Given the description of an element on the screen output the (x, y) to click on. 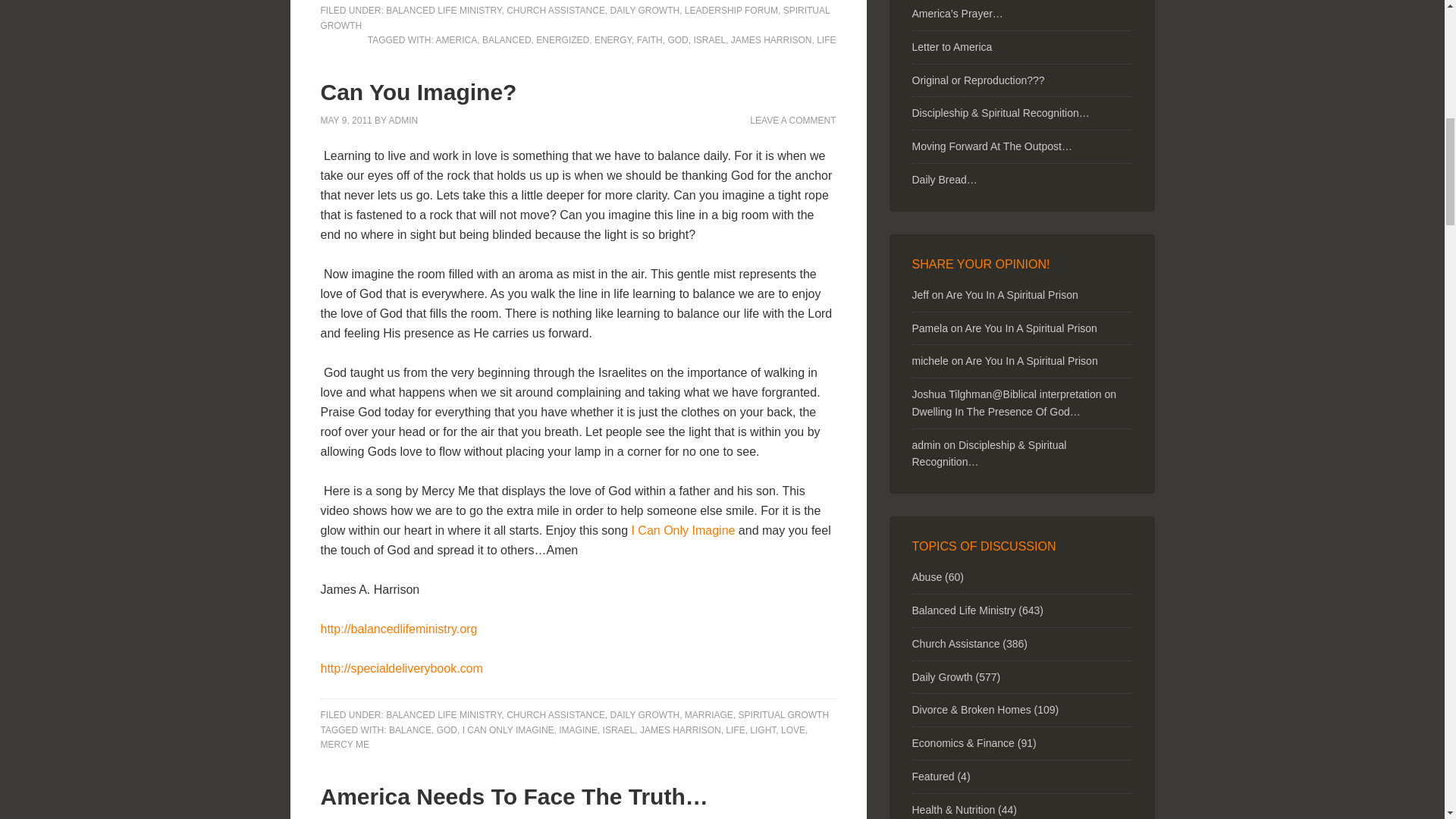
BALANCED LIFE MINISTRY (442, 9)
